Given the description of an element on the screen output the (x, y) to click on. 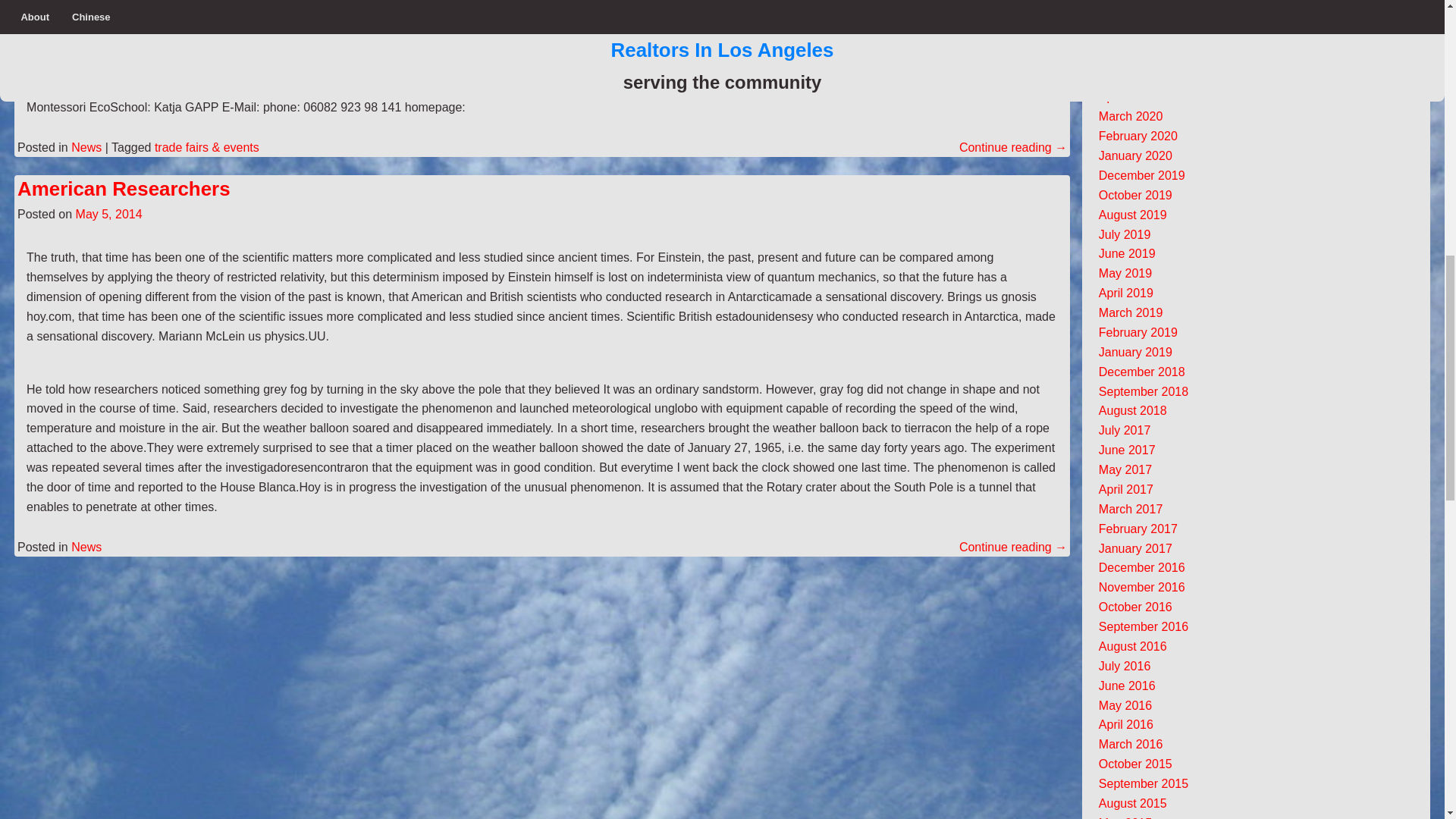
May 5, 2014 (108, 214)
Permalink to American Researchers (123, 188)
7:12 pm (108, 214)
News (86, 546)
News (86, 146)
American Researchers (123, 188)
